Given the description of an element on the screen output the (x, y) to click on. 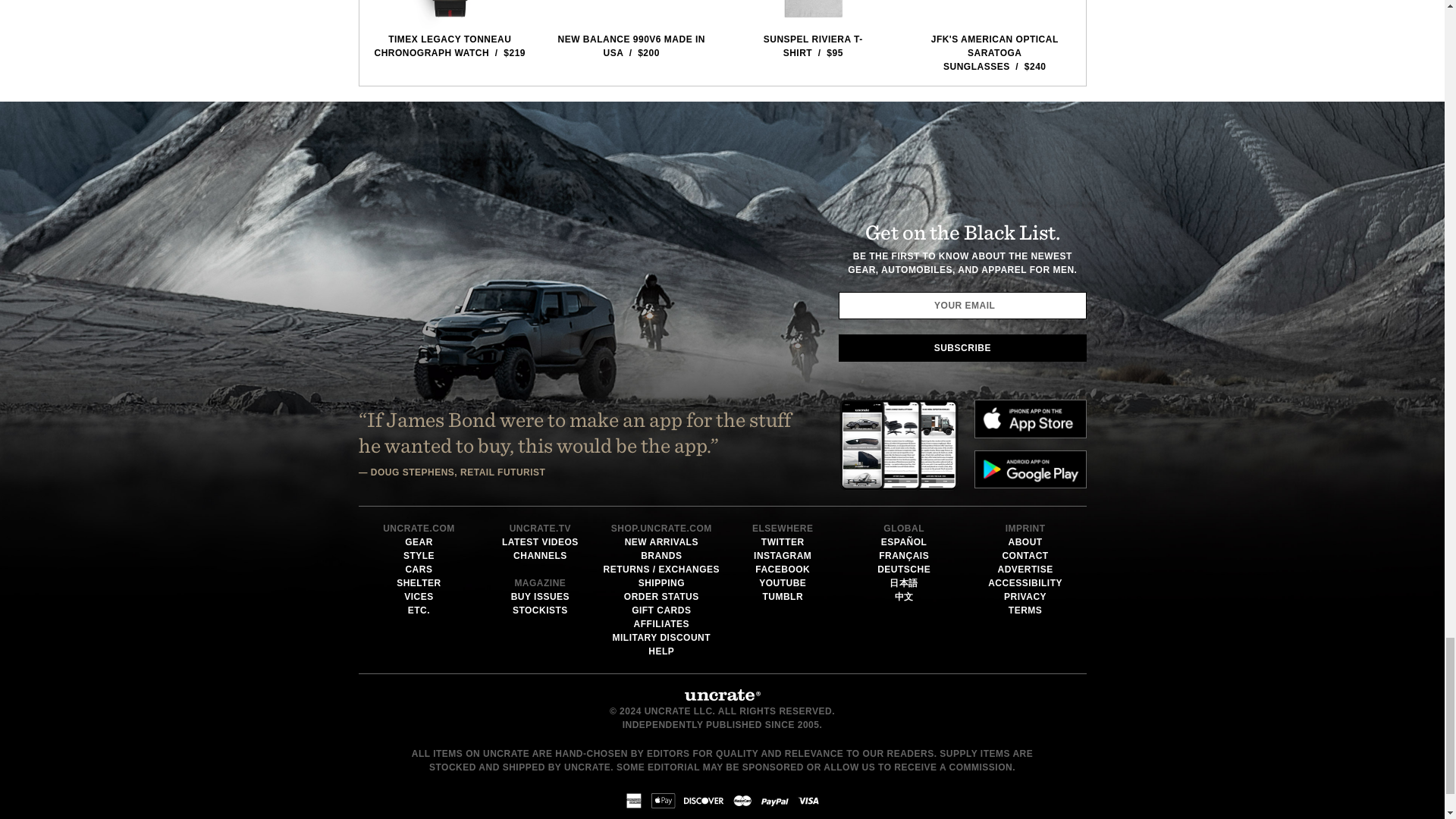
Subscribe (962, 347)
